Given the description of an element on the screen output the (x, y) to click on. 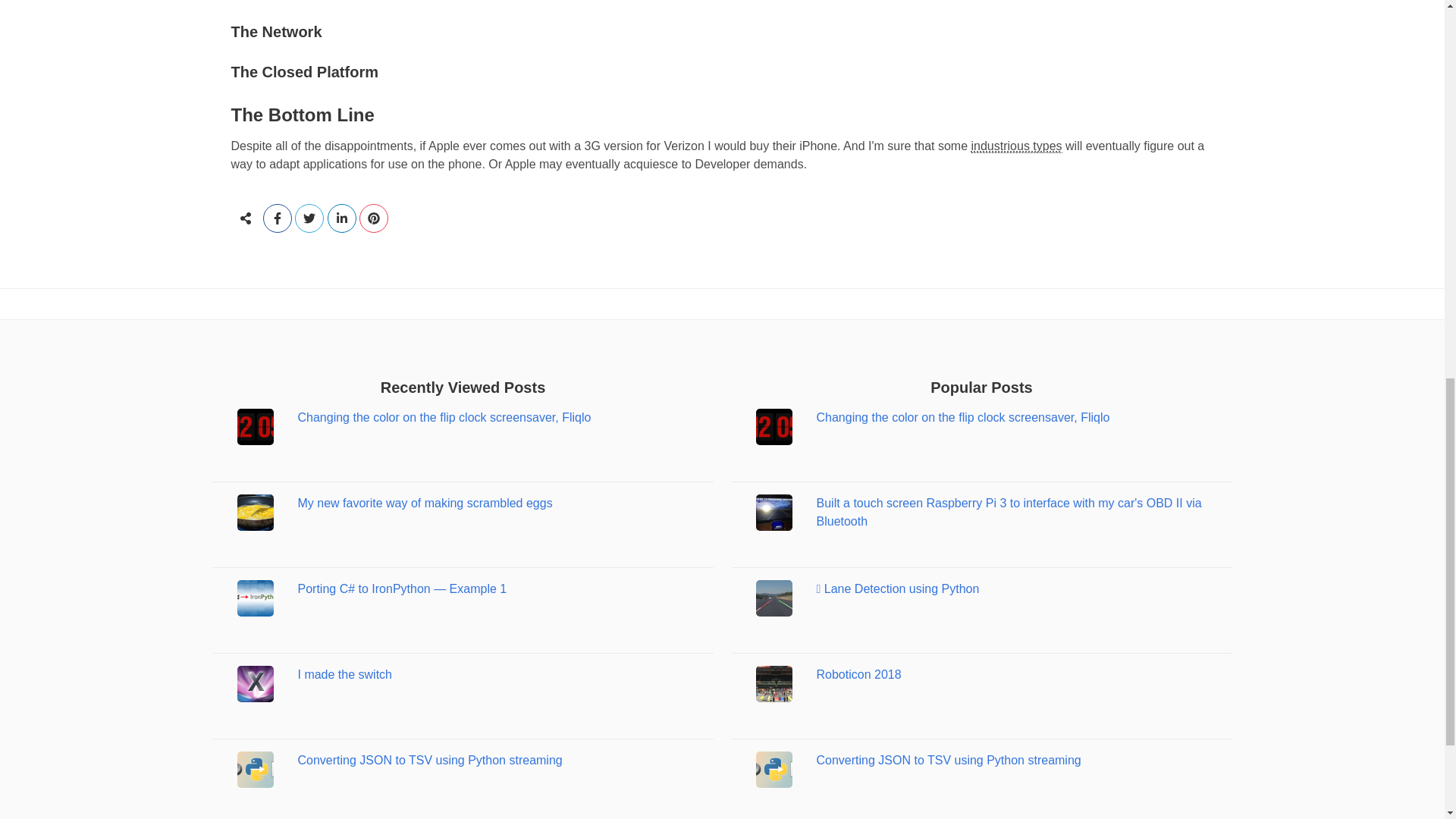
Share this blog post on Pinterest (373, 218)
Share this blog post on Facebook (279, 218)
Share this blog post on LinkedIn (343, 218)
Share this blog Twitter (310, 218)
aka Hackers (1016, 146)
Changing the color on the flip clock screensaver, Fliqlo (444, 417)
Converting JSON to TSV using Python streaming (429, 759)
Changing the color on the flip clock screensaver, Fliqlo (962, 417)
Roboticon 2018 (858, 674)
Share this blog post (244, 218)
